Given the description of an element on the screen output the (x, y) to click on. 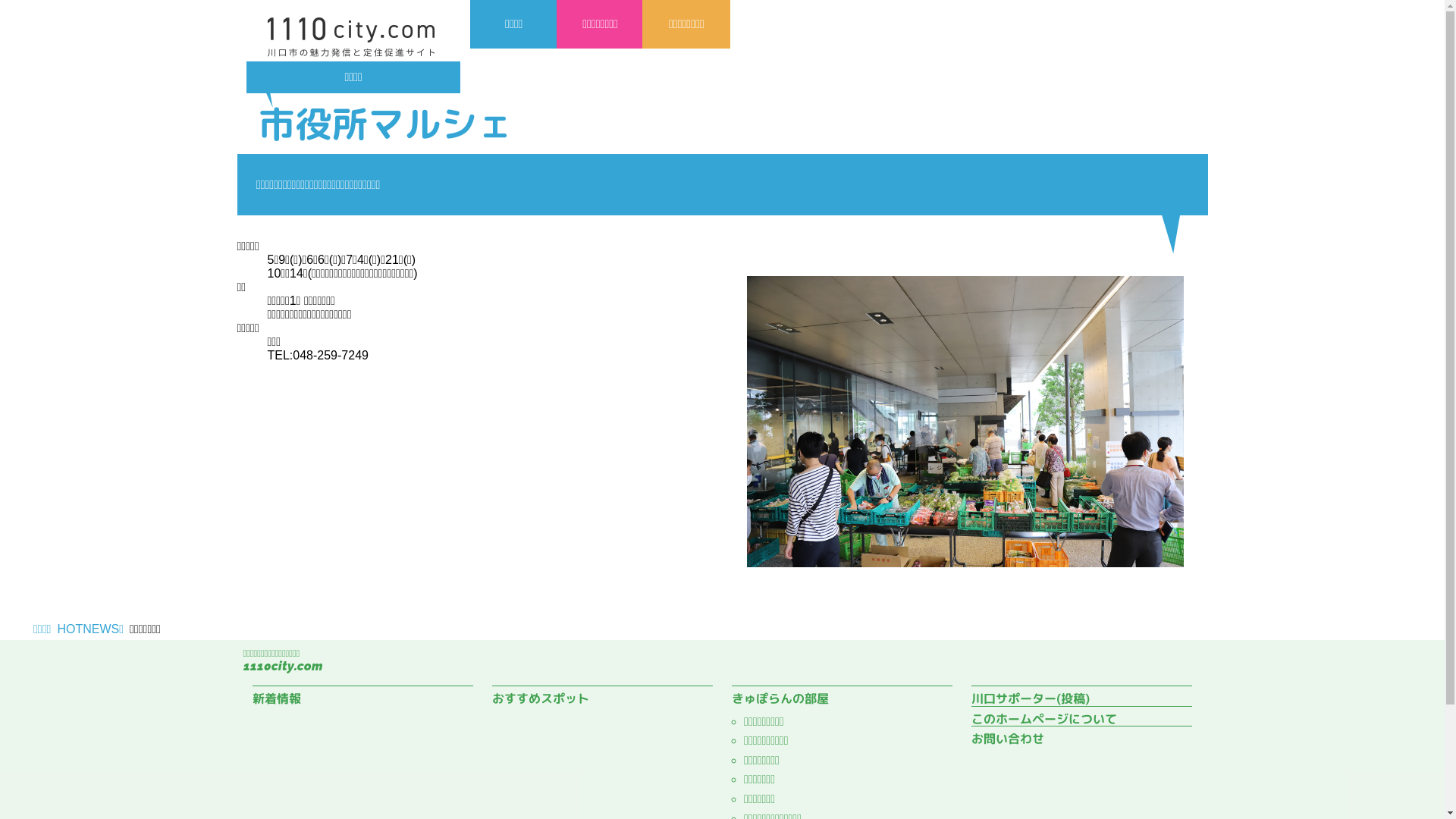
HOTNEWS Element type: text (87, 628)
